Given the description of an element on the screen output the (x, y) to click on. 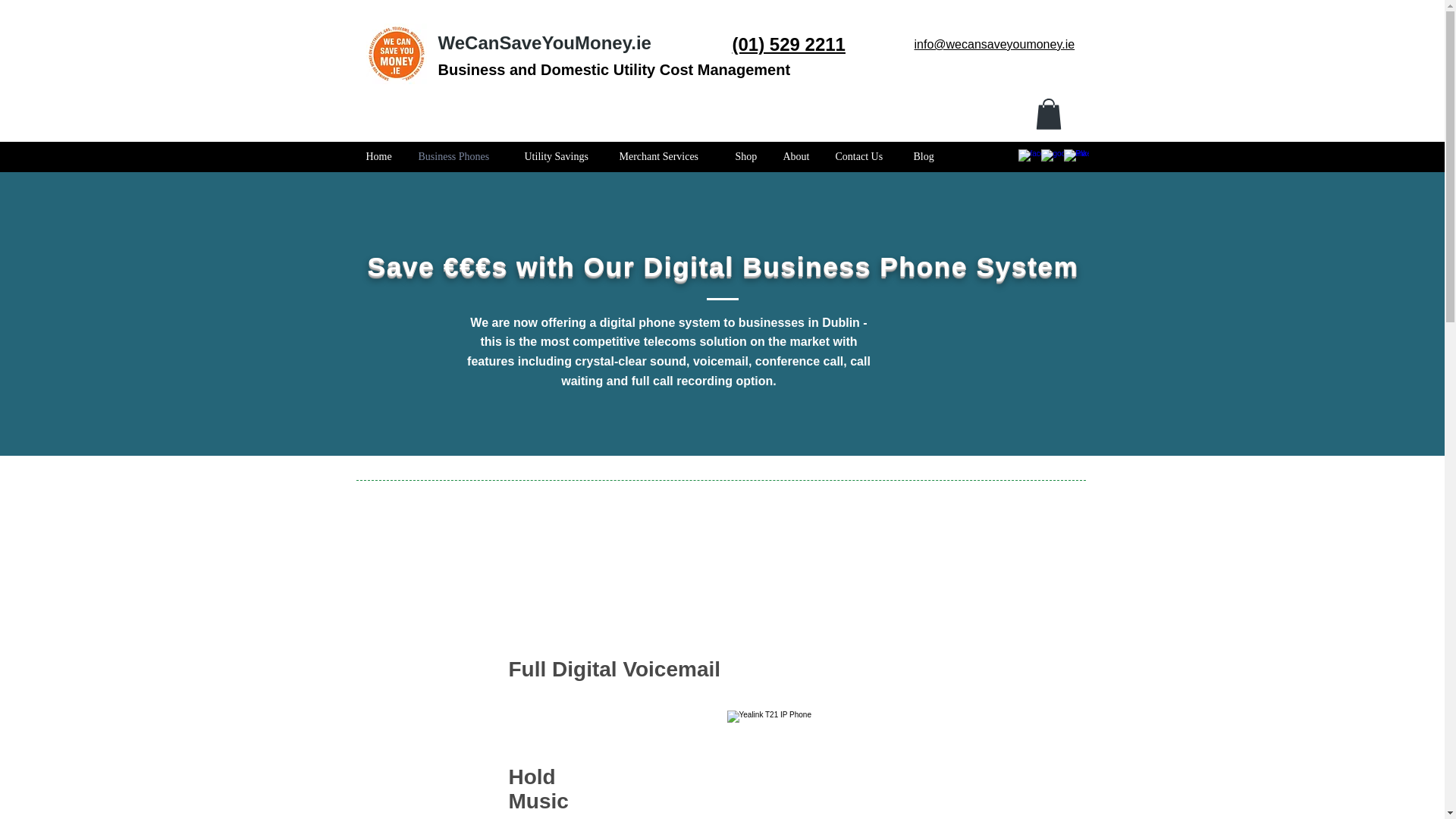
Utility Savings (559, 156)
Ireland's Leading Business Cost Management Solution (395, 53)
Contact Us (862, 156)
Shop (747, 156)
Home (381, 156)
Blog (924, 156)
About (797, 156)
Business Phones (459, 156)
Merchant Services (665, 156)
